Given the description of an element on the screen output the (x, y) to click on. 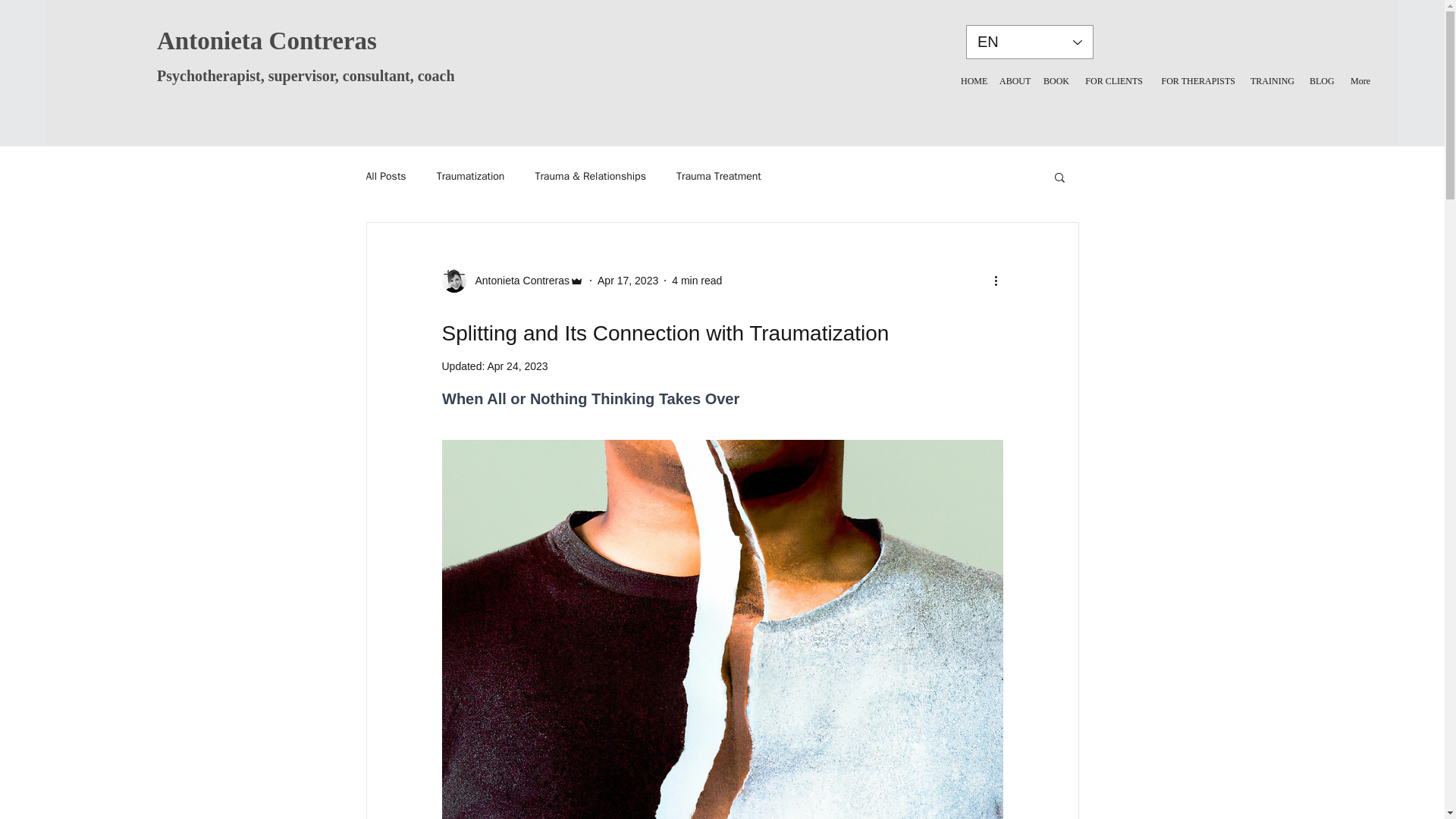
Apr 24, 2023 (516, 366)
FOR THERAPISTS (1196, 81)
Antonieta Contreras (512, 280)
BOOK (1054, 81)
All Posts (385, 176)
BLOG (1320, 81)
Trauma Treatment (719, 176)
4 min read (696, 280)
FOR CLIENTS (1112, 81)
Traumatization (470, 176)
